Given the description of an element on the screen output the (x, y) to click on. 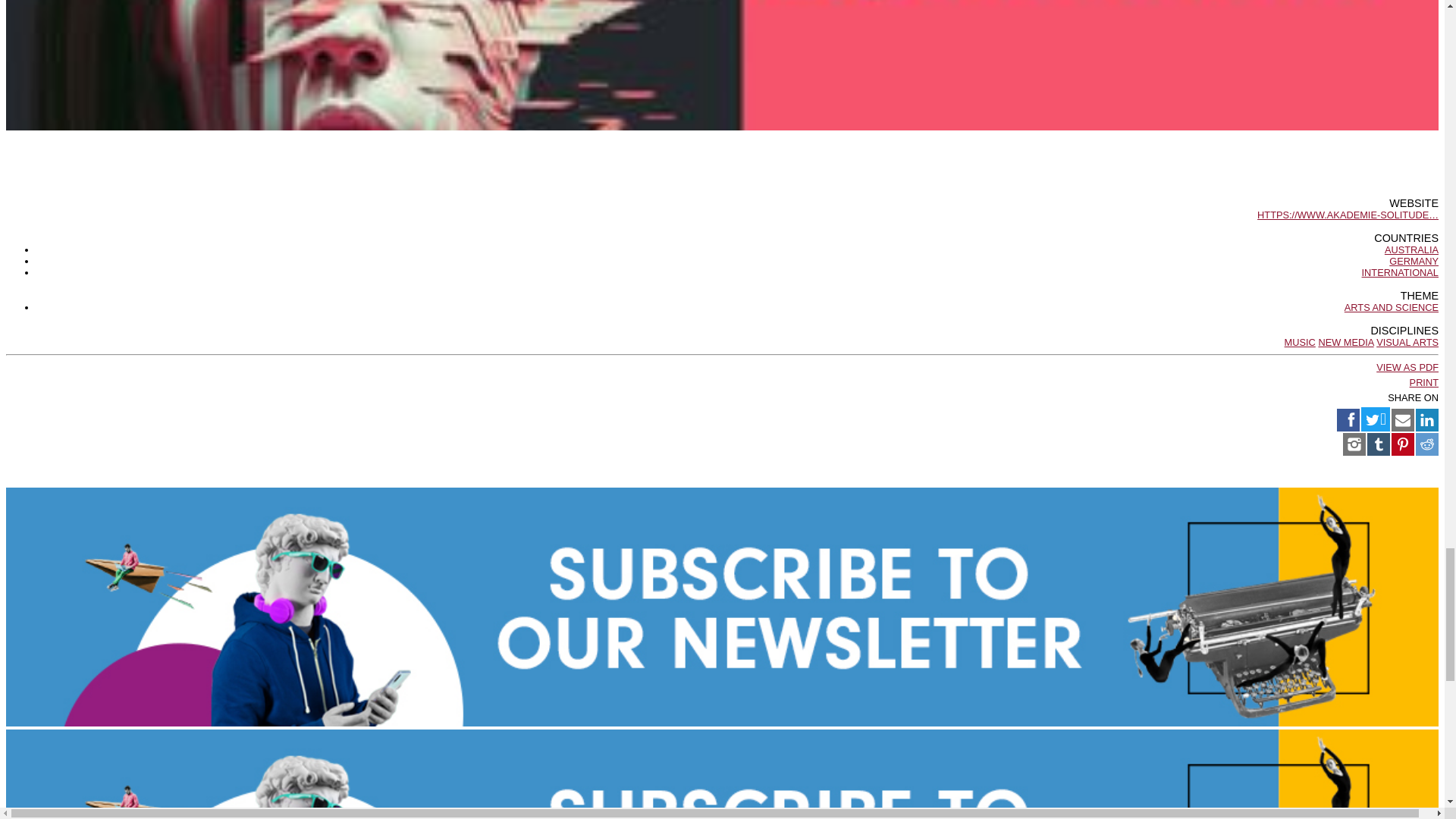
VISUAL ARTS (1406, 342)
PRINT (1423, 382)
AUSTRALIA (1411, 249)
INTERNATIONAL (1399, 272)
ARTS AND SCIENCE (1390, 307)
NEW MEDIA (1345, 342)
GERMANY (1413, 260)
MUSIC (1300, 342)
VIEW AS PDF (1406, 367)
